Given the description of an element on the screen output the (x, y) to click on. 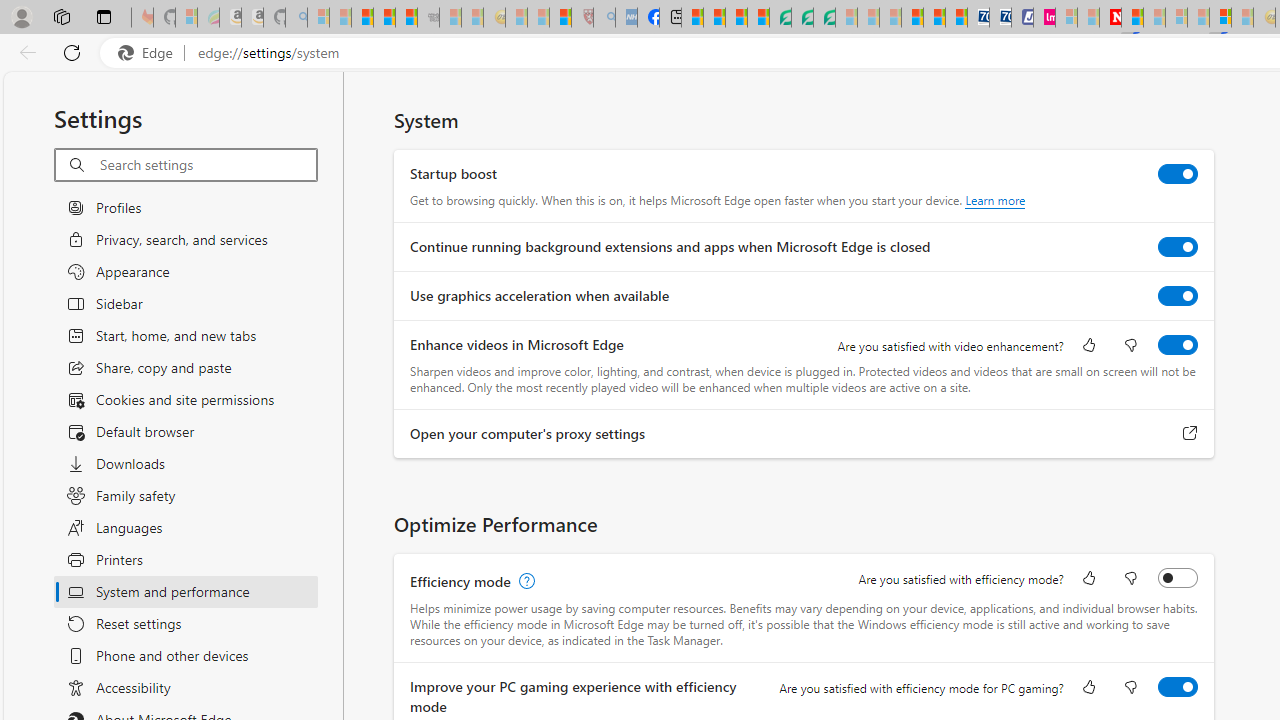
Edge (150, 53)
